Given the description of an element on the screen output the (x, y) to click on. 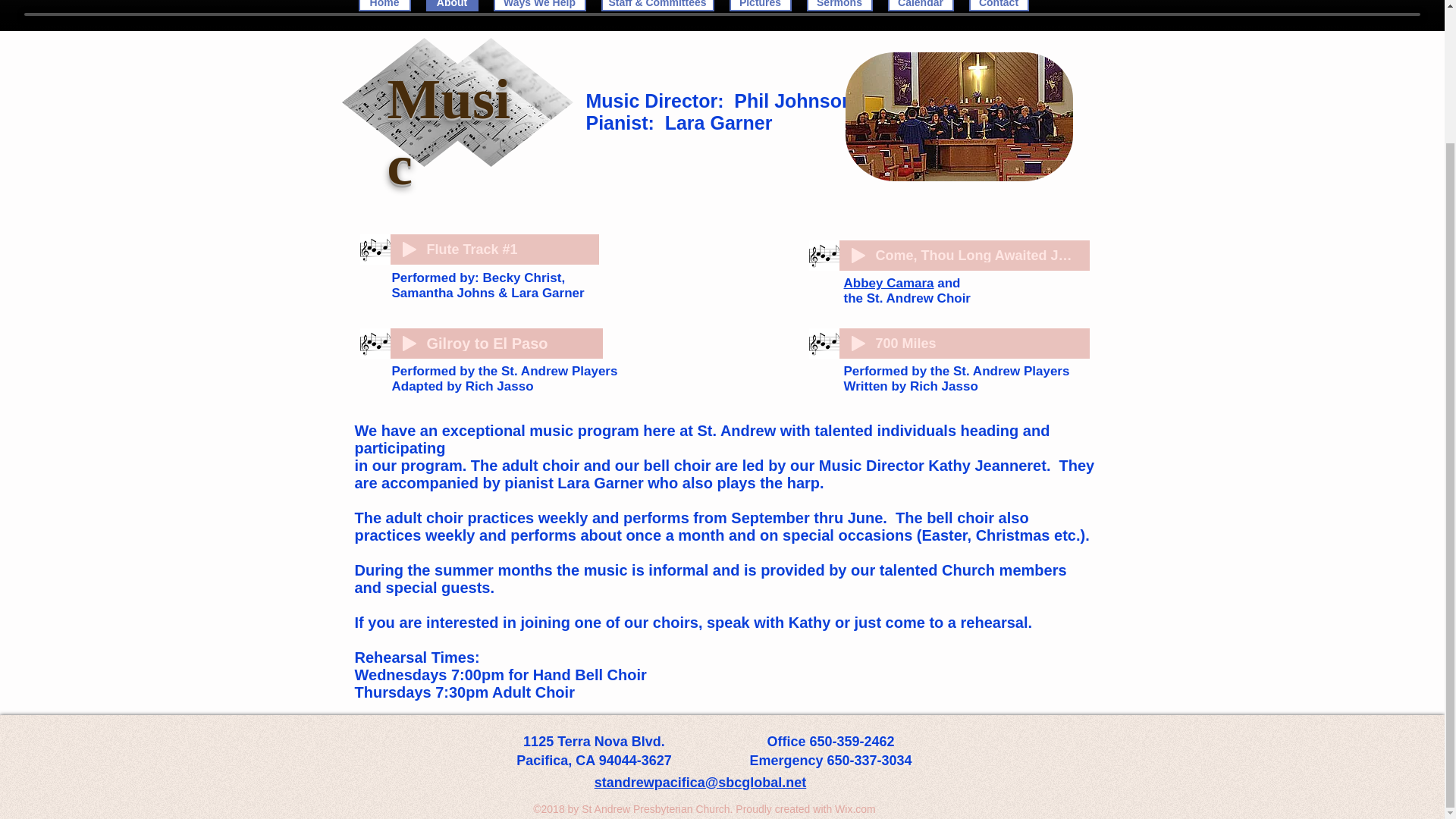
Calendar (919, 5)
About (452, 5)
Home (384, 5)
Sermons (839, 5)
